Given the description of an element on the screen output the (x, y) to click on. 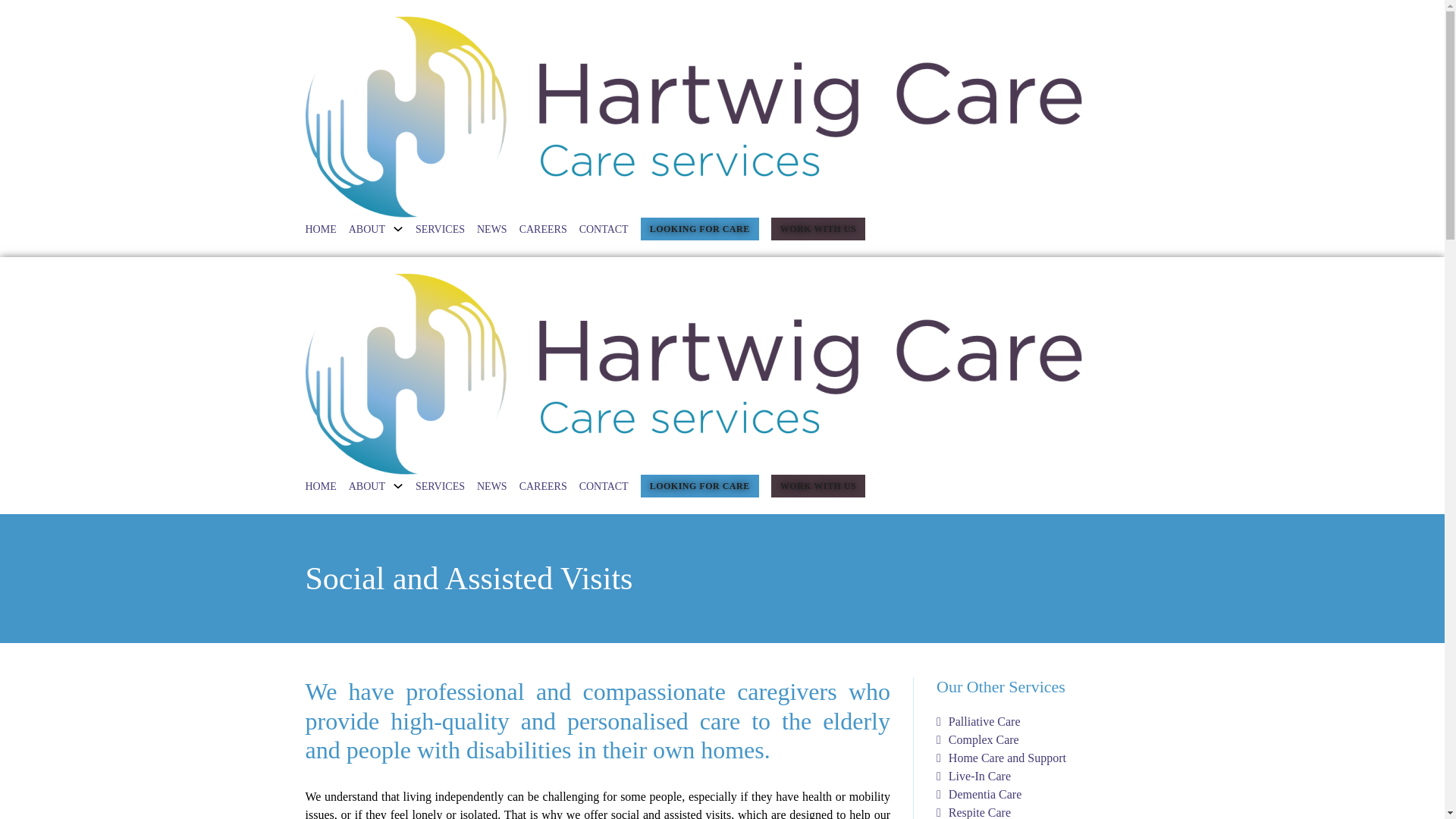
NEWS (491, 229)
ABOUT (367, 229)
HOME (320, 229)
CONTACT (603, 229)
CAREERS (543, 229)
SERVICES (439, 229)
